Given the description of an element on the screen output the (x, y) to click on. 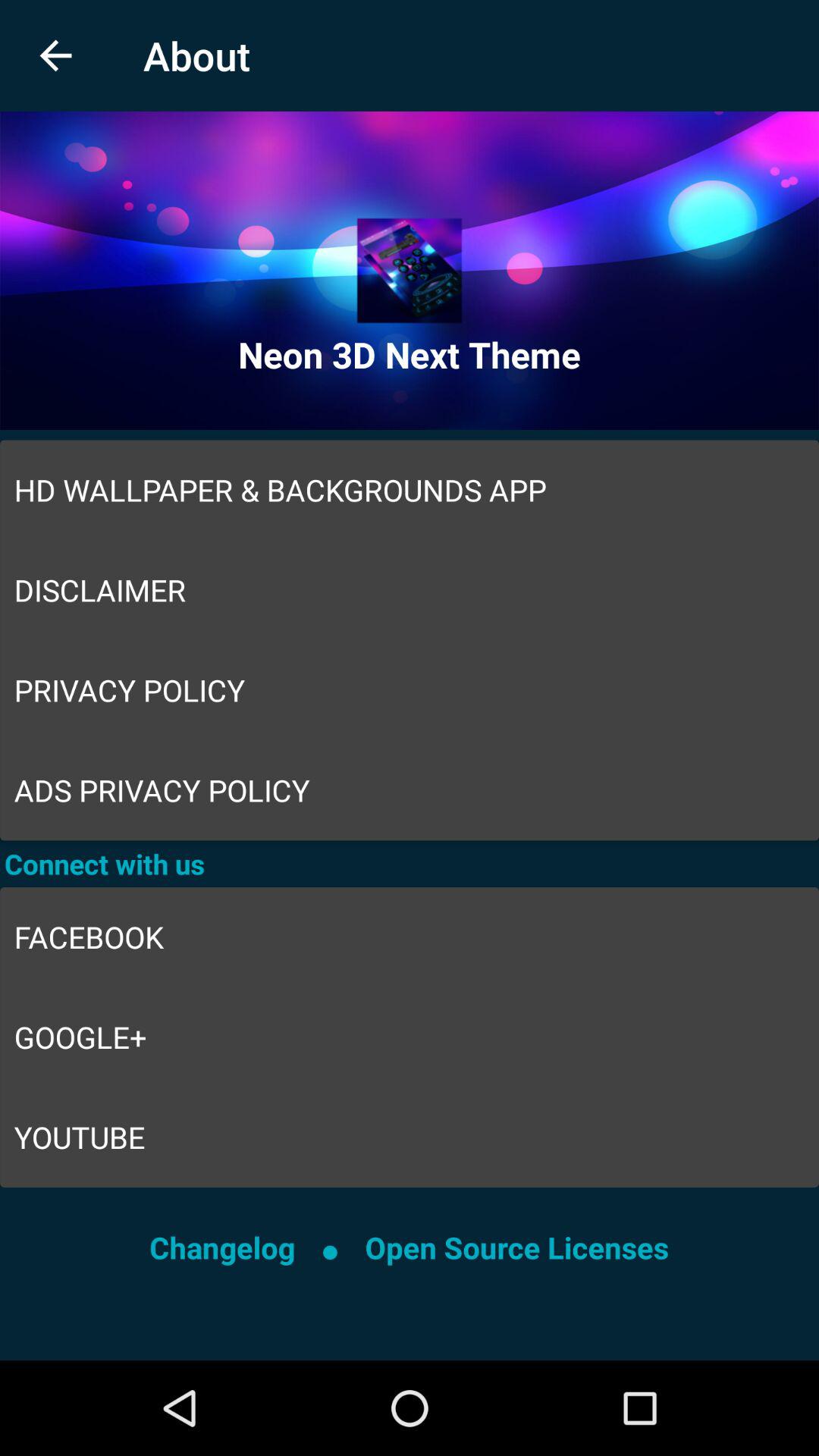
turn off item above google+ icon (409, 937)
